Given the description of an element on the screen output the (x, y) to click on. 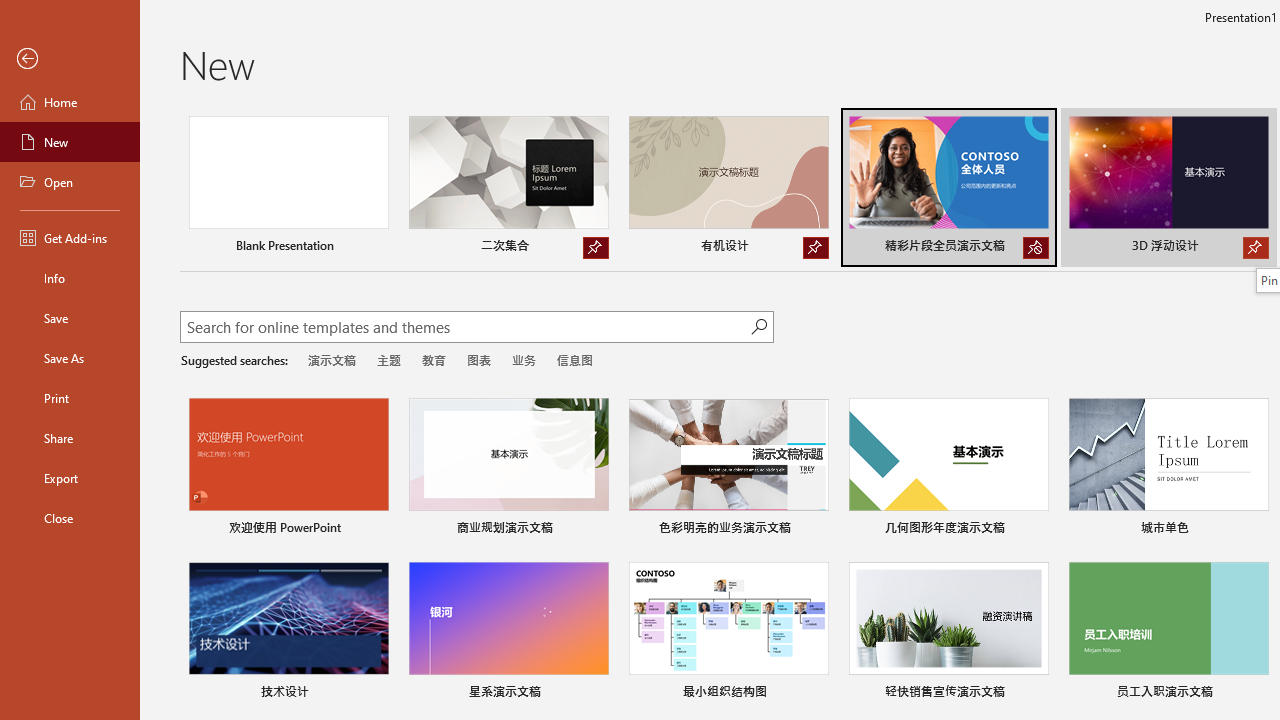
Back (69, 59)
Pin to list (1255, 693)
Blank Presentation (288, 187)
New (69, 141)
